Given the description of an element on the screen output the (x, y) to click on. 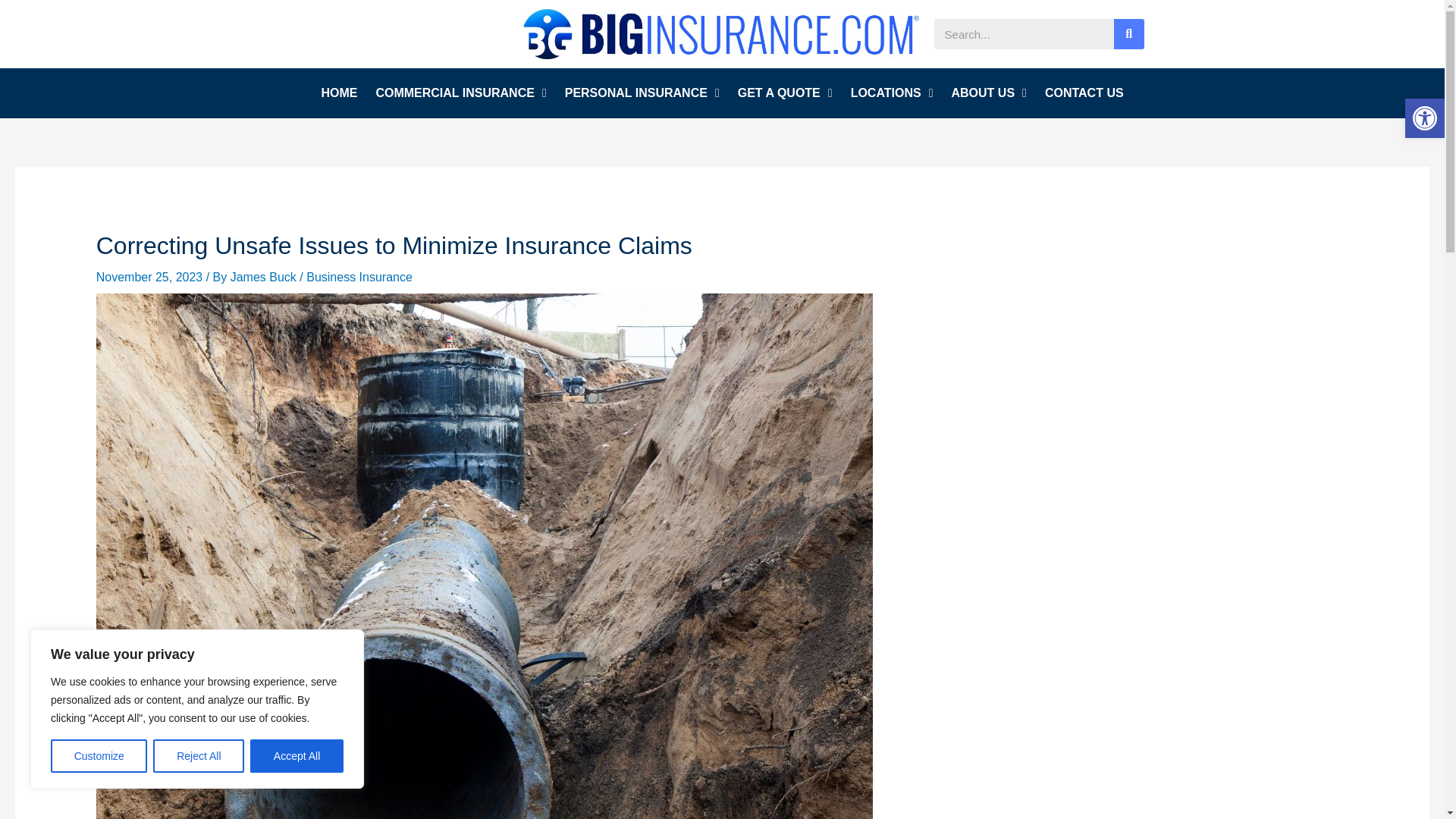
View all posts by James Buck (264, 277)
Search (1128, 33)
Customize (98, 756)
Accept All (296, 756)
HOME (339, 93)
COMMERCIAL INSURANCE (460, 93)
Accessibility Tools (1424, 118)
Reject All (198, 756)
Search (1023, 33)
